Given the description of an element on the screen output the (x, y) to click on. 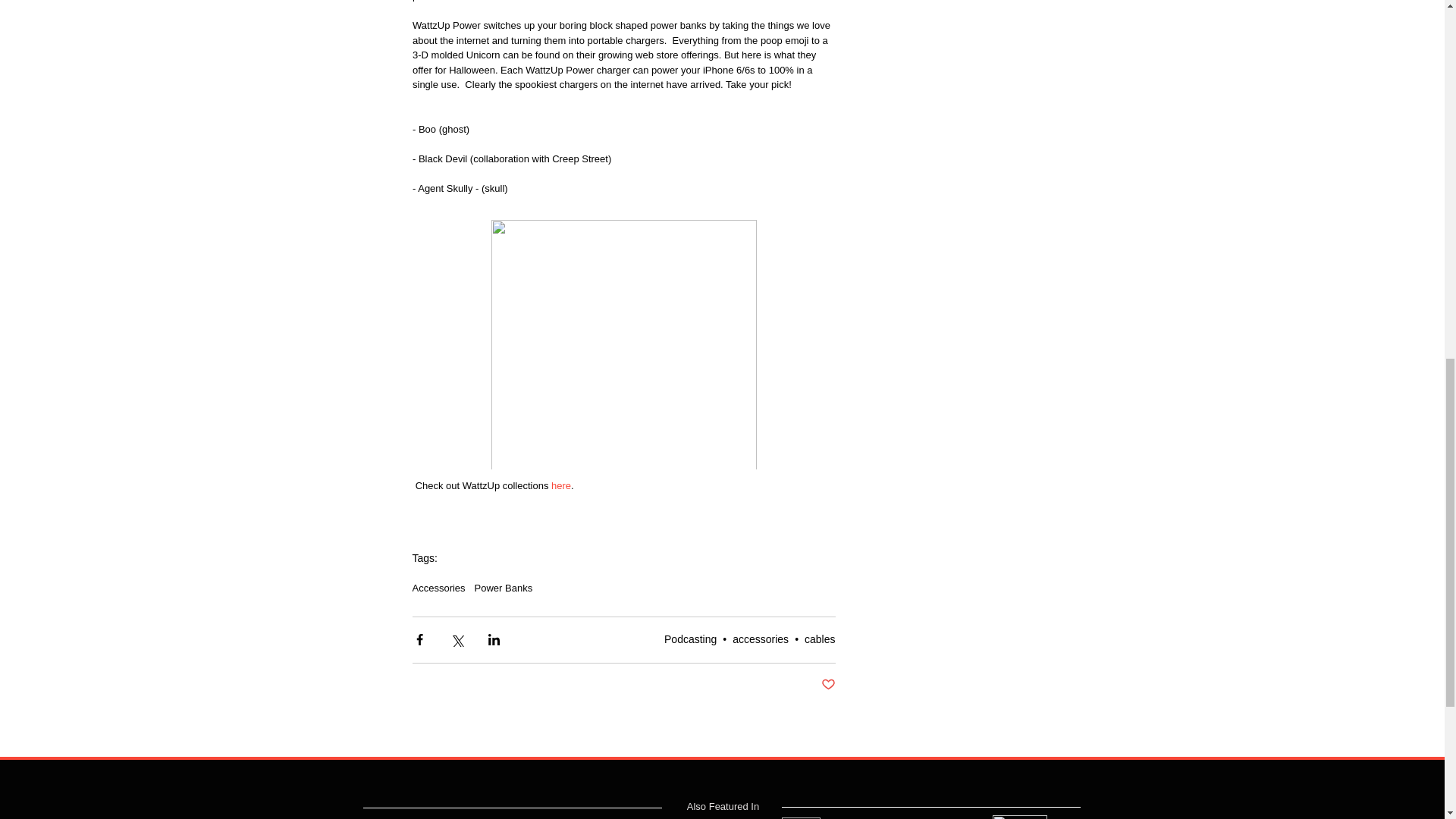
Podcasting (689, 639)
Post not marked as liked (827, 684)
WWL16.jpg (799, 818)
Accessories (438, 587)
cables (819, 639)
experience11.jpg (1018, 816)
here (560, 485)
accessories (760, 639)
Power Banks (503, 587)
